Given the description of an element on the screen output the (x, y) to click on. 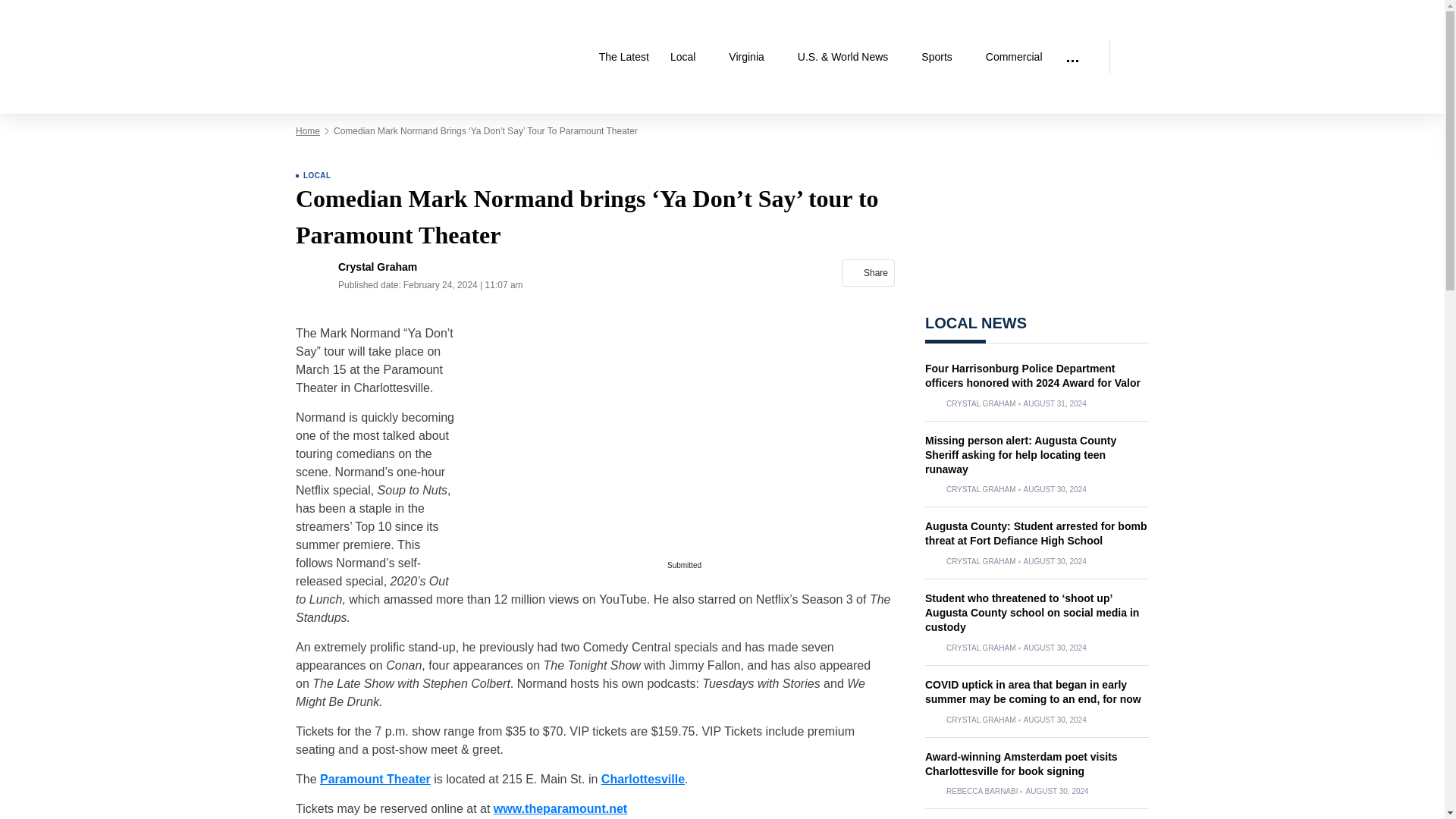
Virginia (751, 57)
Local (688, 57)
Sports (942, 57)
Commercial (1013, 57)
The Latest (623, 57)
